Given the description of an element on the screen output the (x, y) to click on. 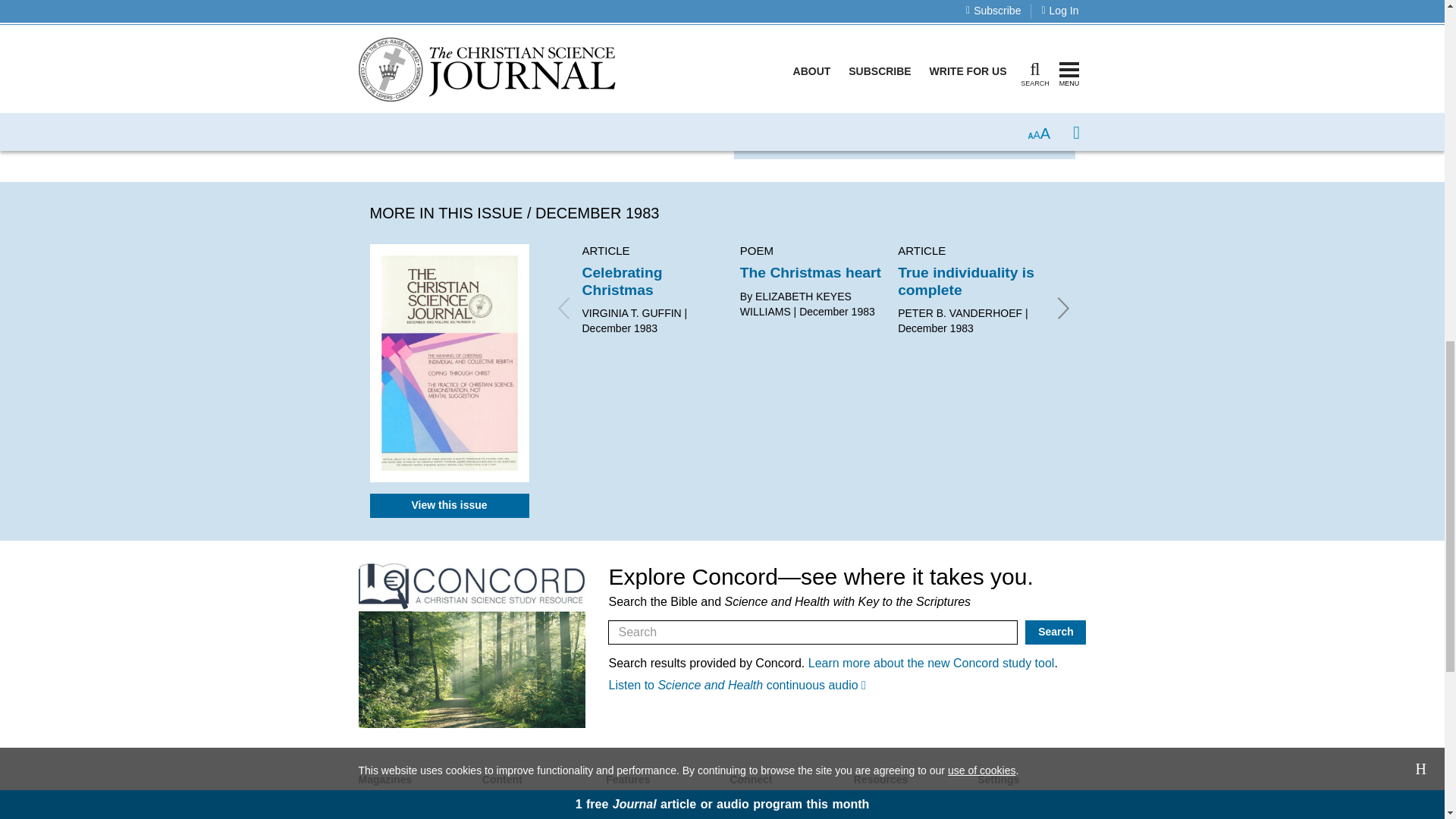
Footnote link Learn more about the new Concord study tool (931, 662)
Footnote link Try free (789, 125)
Footnote link Subscribe (654, 125)
Footnote link Log in (780, 35)
Search (1055, 631)
concord-web-promo-graphic (471, 645)
Footnote link Explore the Collections archive today (893, 88)
Safety (455, 67)
Footnote link Browse all collections (997, 135)
